Given the description of an element on the screen output the (x, y) to click on. 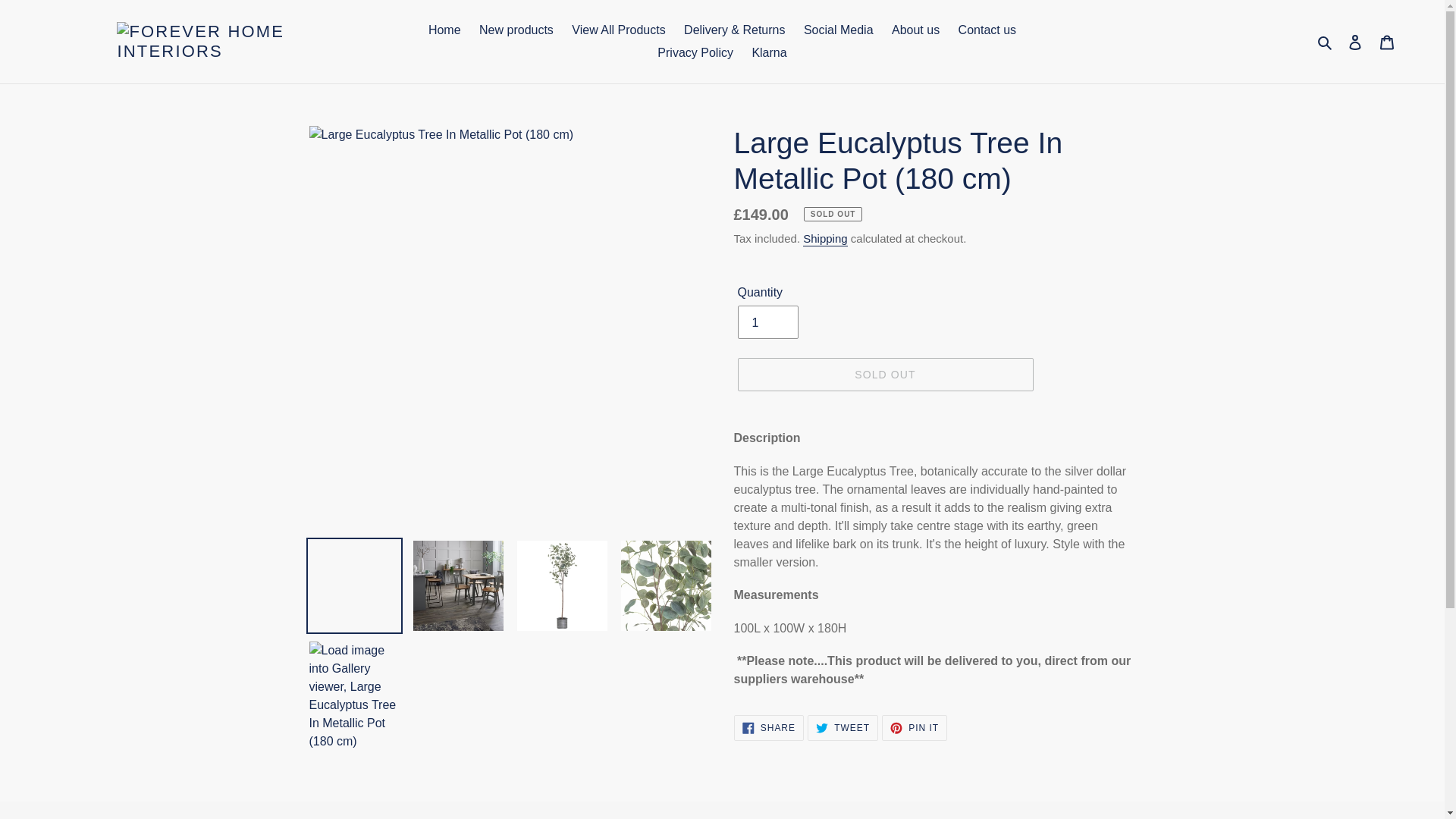
SOLD OUT (884, 374)
Contact us (986, 29)
Log in (1355, 41)
View All Products (618, 29)
1 (766, 322)
Shipping (825, 238)
Home (444, 29)
Search (1326, 41)
Privacy Policy (695, 52)
Cart (1387, 41)
About us (915, 29)
Klarna (768, 52)
New products (515, 29)
Social Media (838, 29)
